Given the description of an element on the screen output the (x, y) to click on. 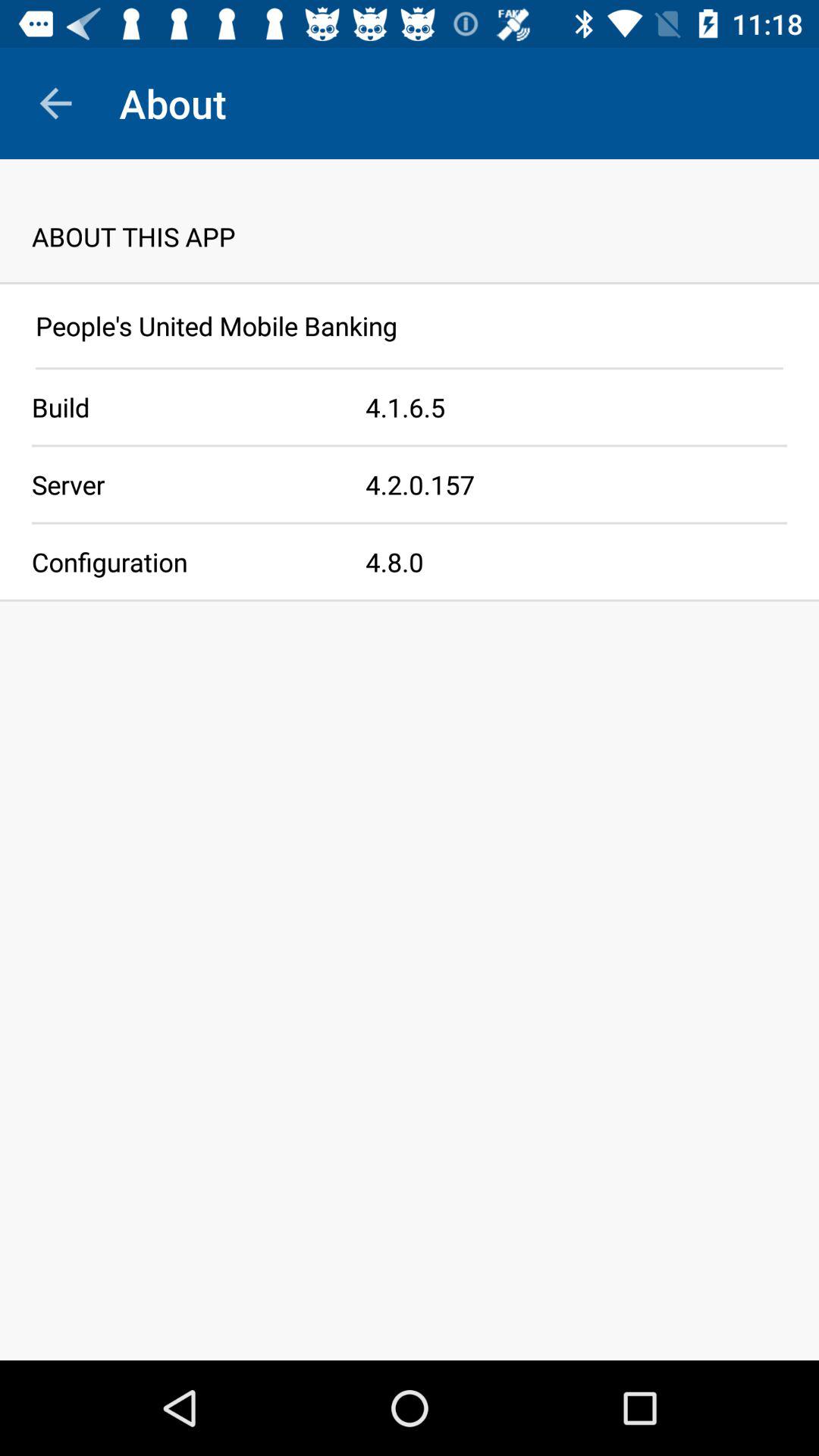
open people s united (409, 325)
